Given the description of an element on the screen output the (x, y) to click on. 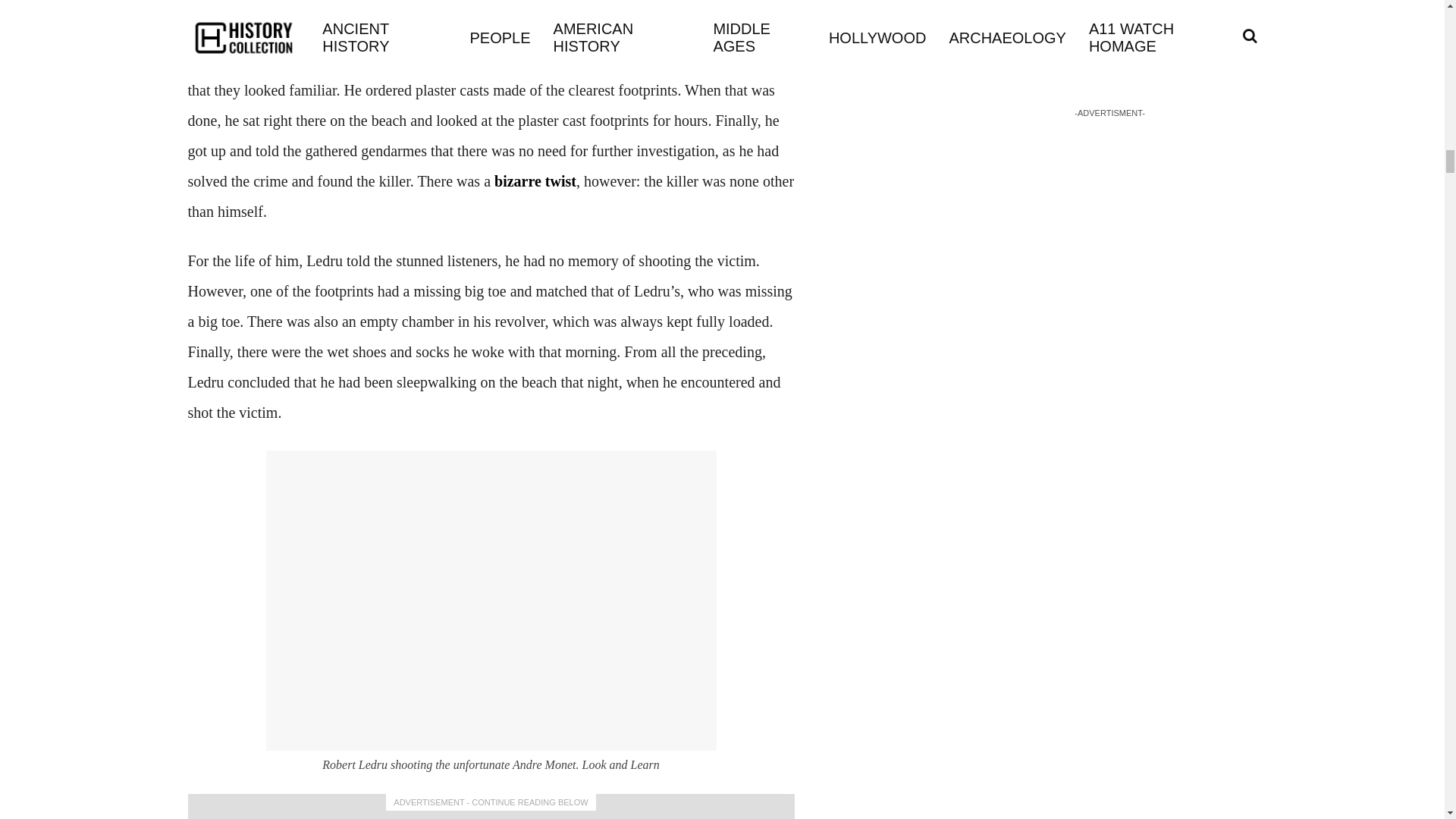
bizarre twist (535, 180)
